Given the description of an element on the screen output the (x, y) to click on. 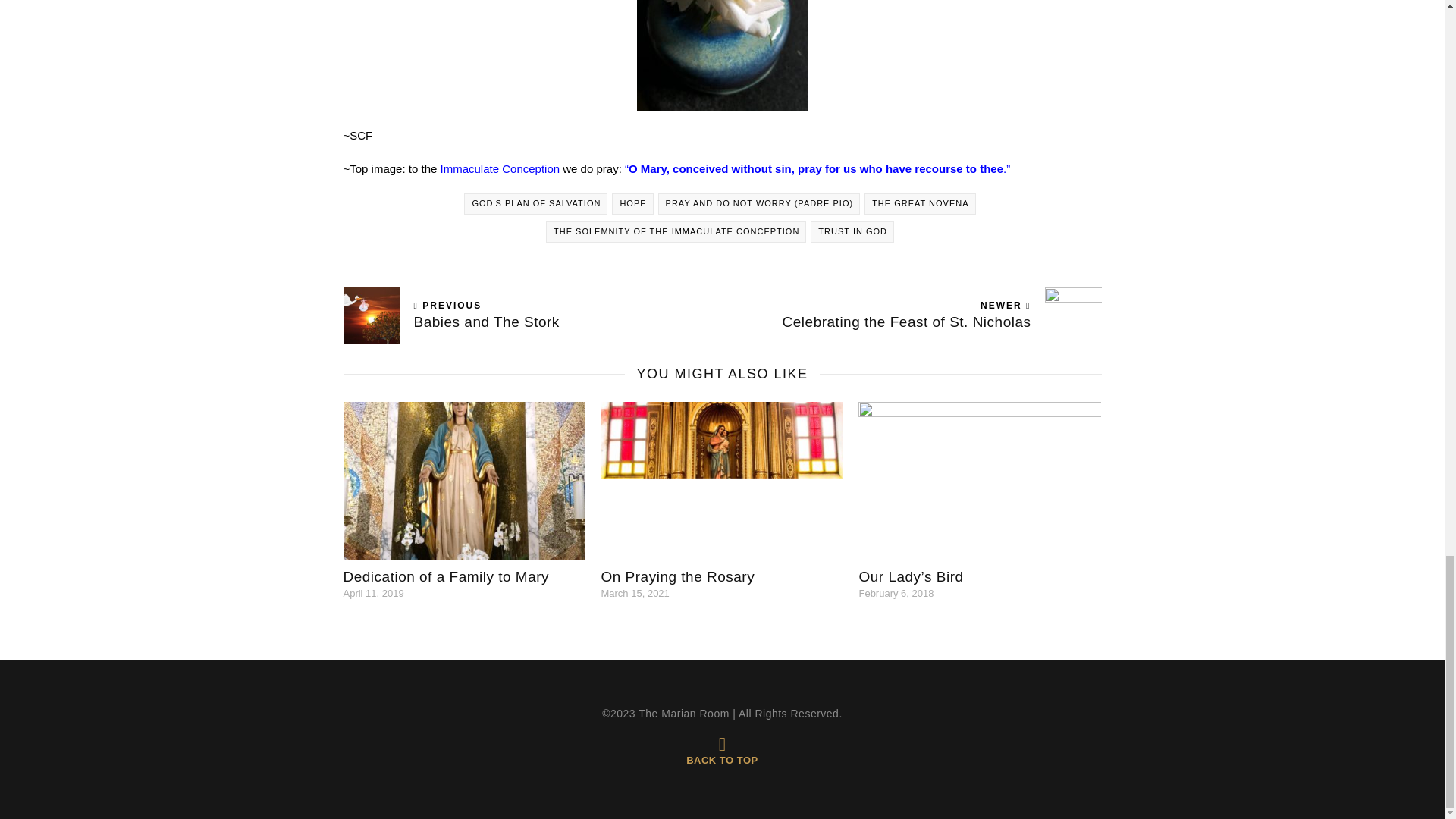
THE SOLEMNITY OF THE IMMACULATE CONCEPTION (911, 315)
GOD'S PLAN OF SALVATION (676, 231)
Immaculate Conception (535, 203)
THE GREAT NOVENA (500, 168)
On Praying the Rosary (532, 315)
TRUST IN GOD (919, 203)
Dedication of a Family to Mary (676, 576)
HOPE (851, 231)
